Given the description of an element on the screen output the (x, y) to click on. 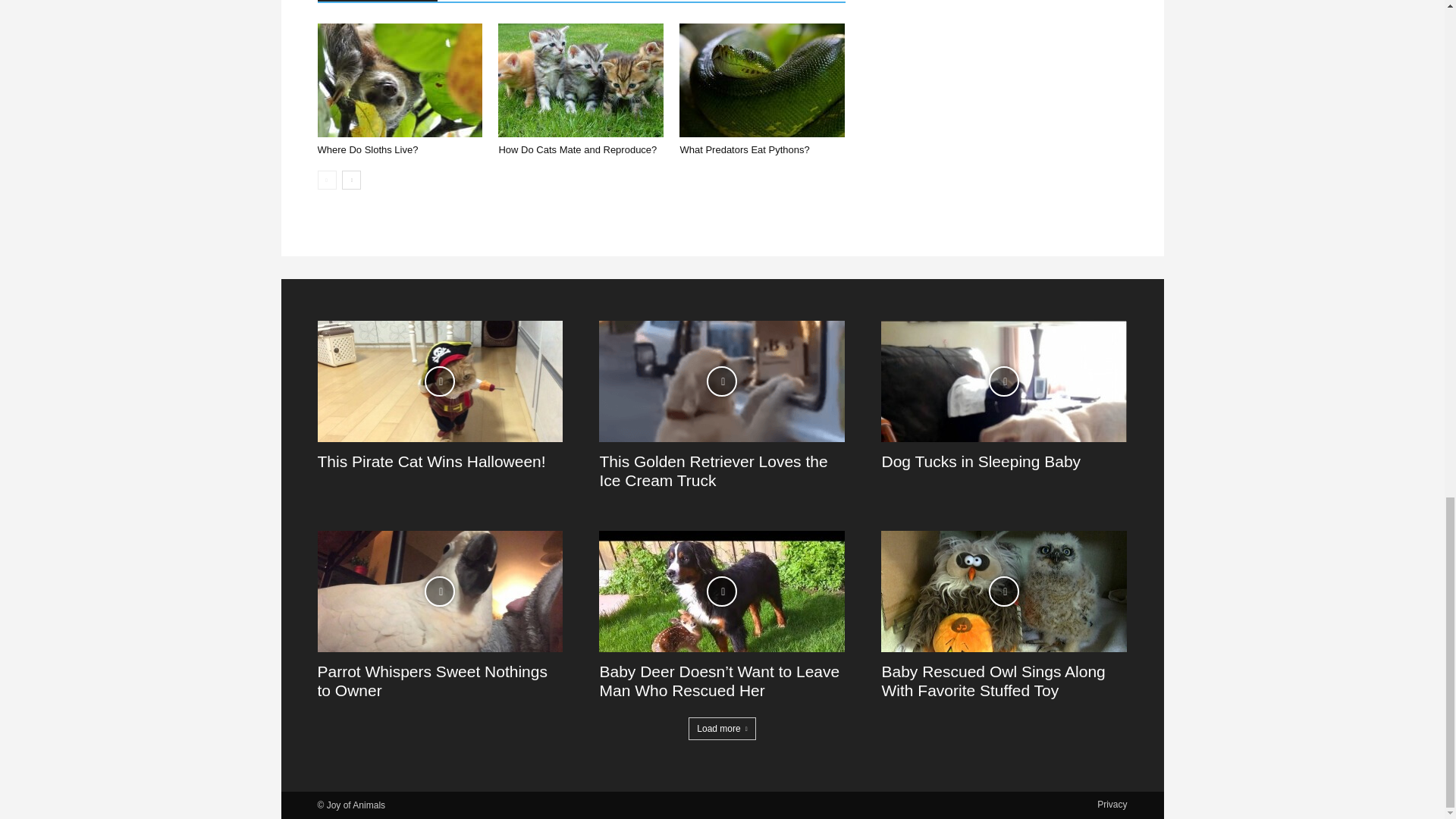
RELATED ARTICLES (377, 0)
What Predators Eat Pythons? (744, 149)
Where Do Sloths Live? (399, 80)
This Golden Retriever Loves the Ice Cream Truck (712, 470)
How Do Cats Mate and Reproduce? (576, 149)
What Predators Eat Pythons? (761, 80)
MORE FROM AUTHOR (503, 0)
How Do Cats Mate and Reproduce? (580, 80)
This Pirate Cat Wins Halloween! (430, 461)
Where Do Sloths Live? (367, 149)
What Predators Eat Pythons? (744, 149)
How Do Cats Mate and Reproduce? (576, 149)
Where Do Sloths Live? (367, 149)
